Given the description of an element on the screen output the (x, y) to click on. 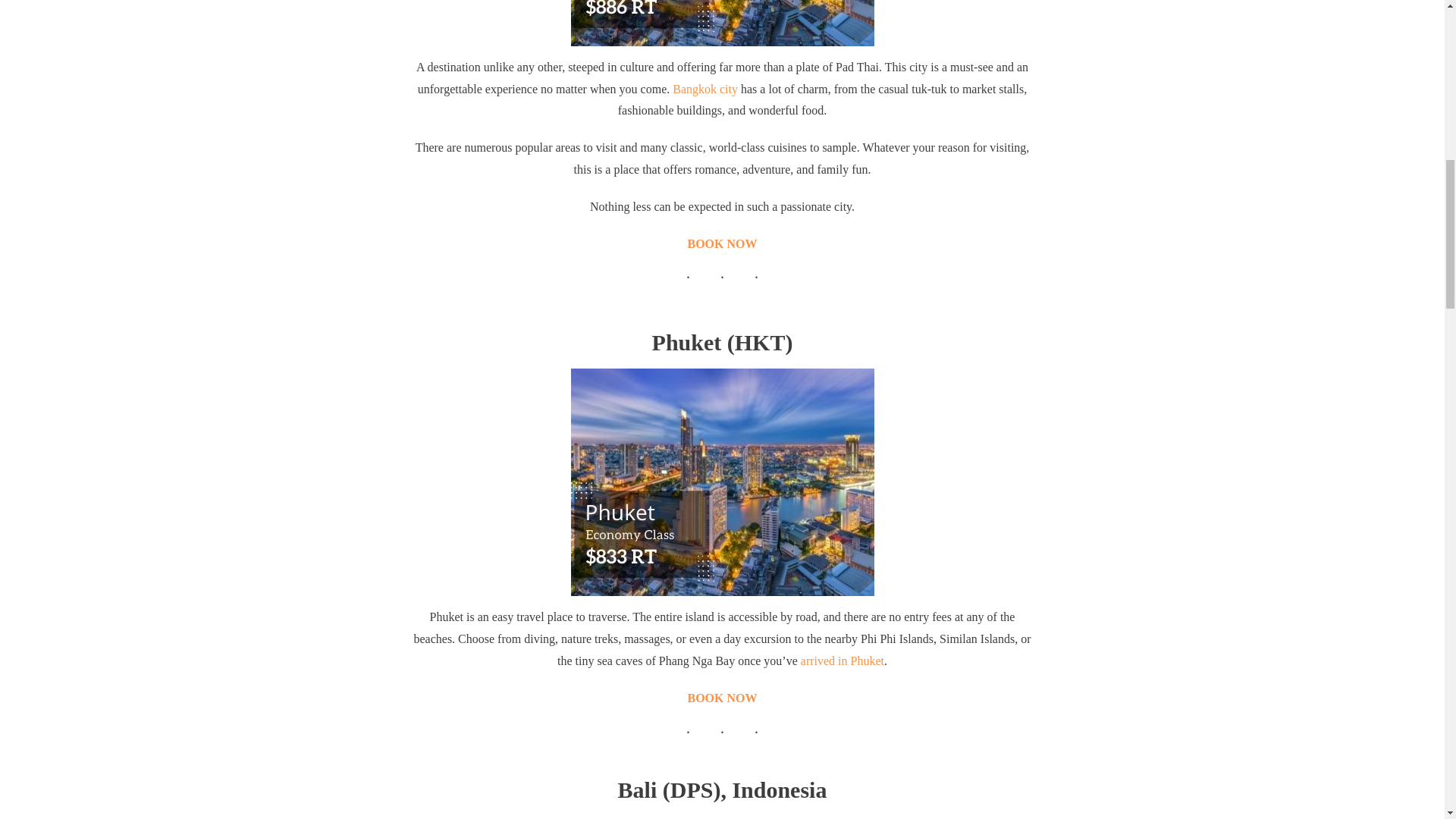
Bangkok city (705, 88)
BOOK NOW (722, 697)
arrived in Phuket (841, 660)
BOOK NOW (722, 243)
